Given the description of an element on the screen output the (x, y) to click on. 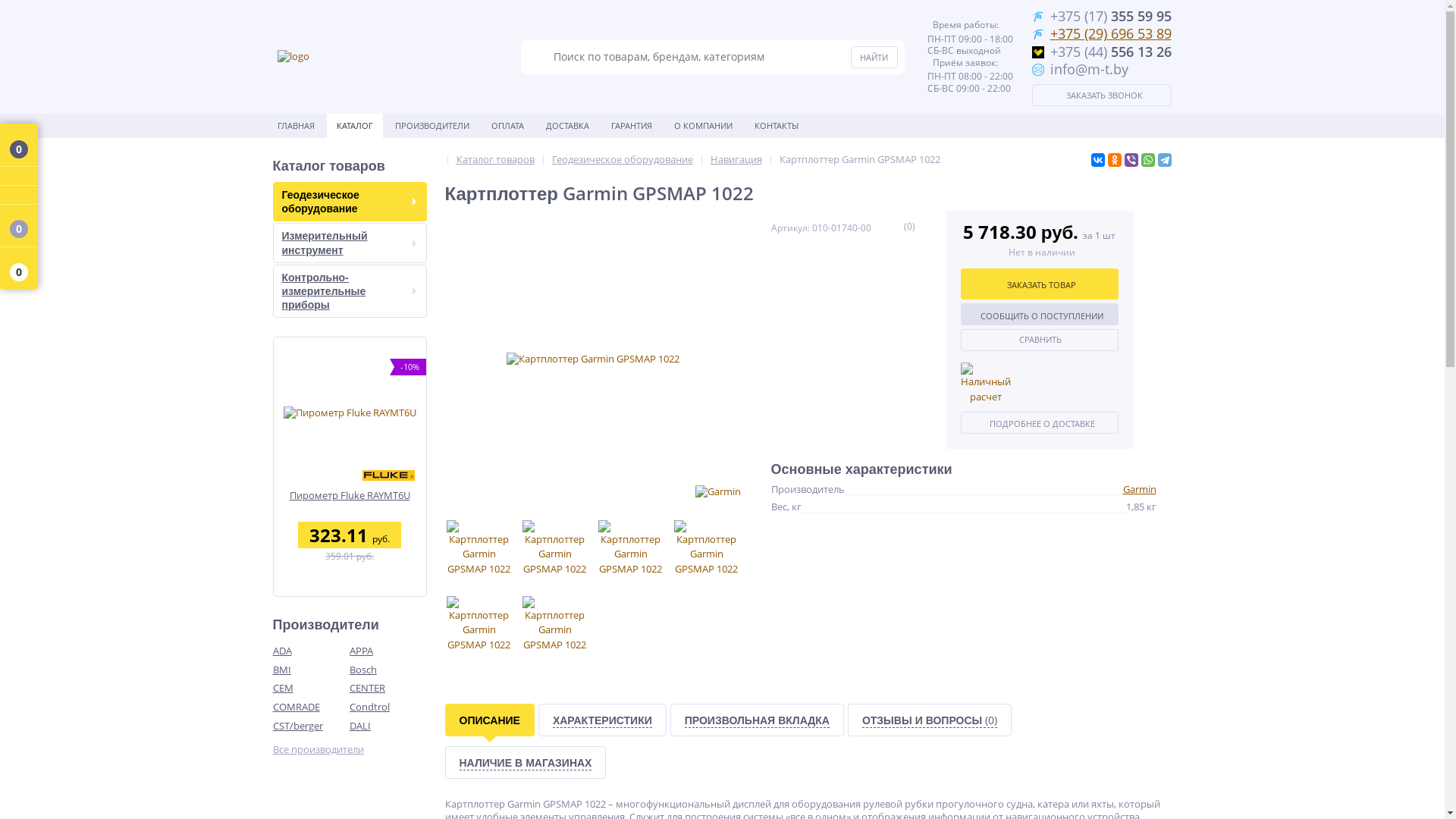
Viber Element type: hover (1130, 159)
Telegram Element type: hover (1163, 159)
Garmin Element type: text (1138, 488)
+375 (29) 696 53 89 Element type: text (1109, 33)
Garmin Element type: hover (717, 491)
WhatsApp Element type: hover (1147, 159)
BMI Element type: text (311, 669)
COMRADE Element type: text (311, 706)
CEM Element type: text (311, 687)
APPA Element type: text (387, 650)
CENTER Element type: text (387, 687)
Bosch Element type: text (387, 669)
CST/berger Element type: text (311, 725)
DALI Element type: text (387, 725)
Fluke Element type: hover (388, 475)
0 Element type: text (18, 225)
0 Element type: text (18, 144)
0 Element type: text (18, 267)
Condtrol Element type: text (387, 706)
ADA Element type: text (311, 650)
-10% Element type: text (349, 412)
